Given the description of an element on the screen output the (x, y) to click on. 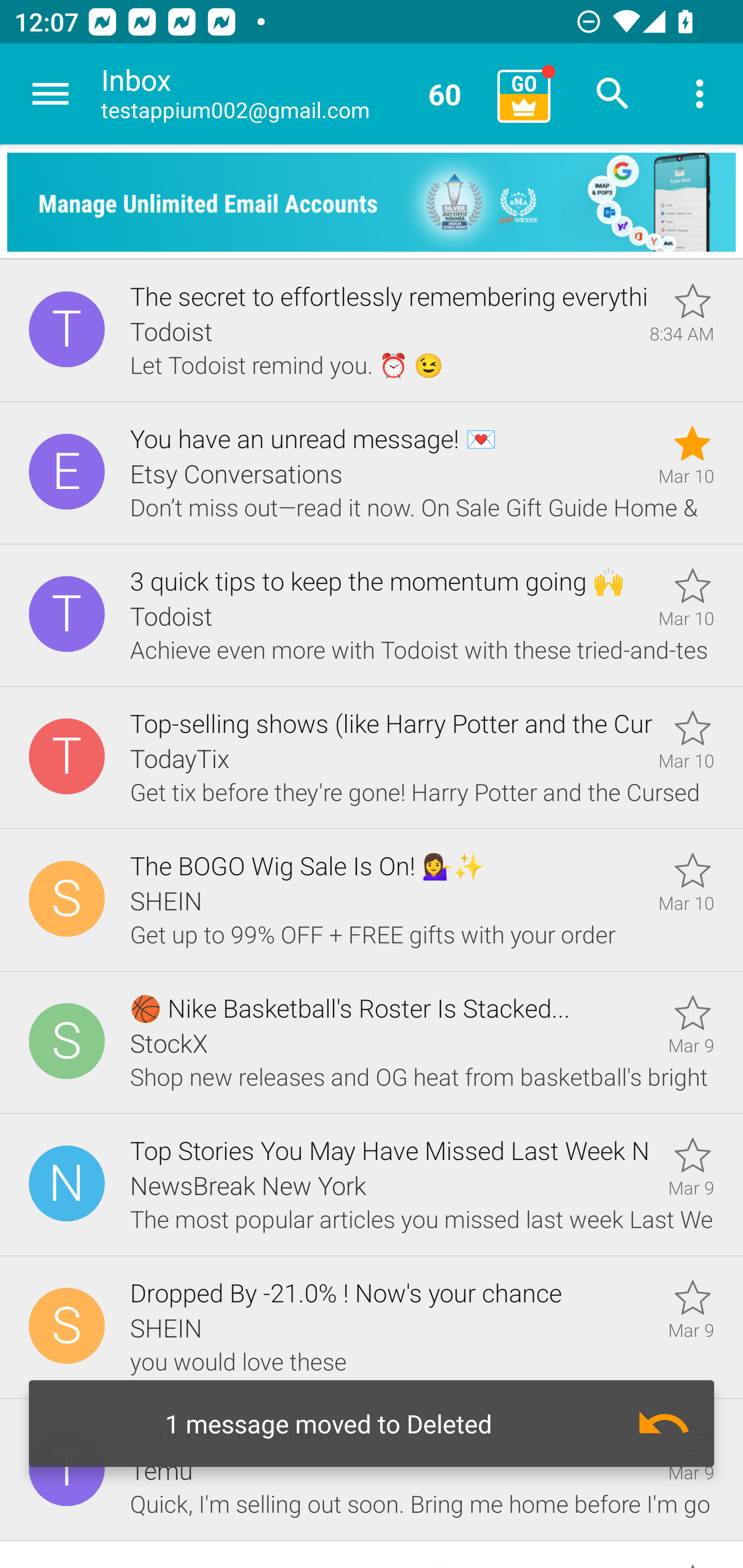
Navigate up (50, 93)
Inbox testappium002@gmail.com 60 (291, 93)
Search (612, 93)
More options (699, 93)
Undo 1 message moved to Deleted (371, 1423)
